Given the description of an element on the screen output the (x, y) to click on. 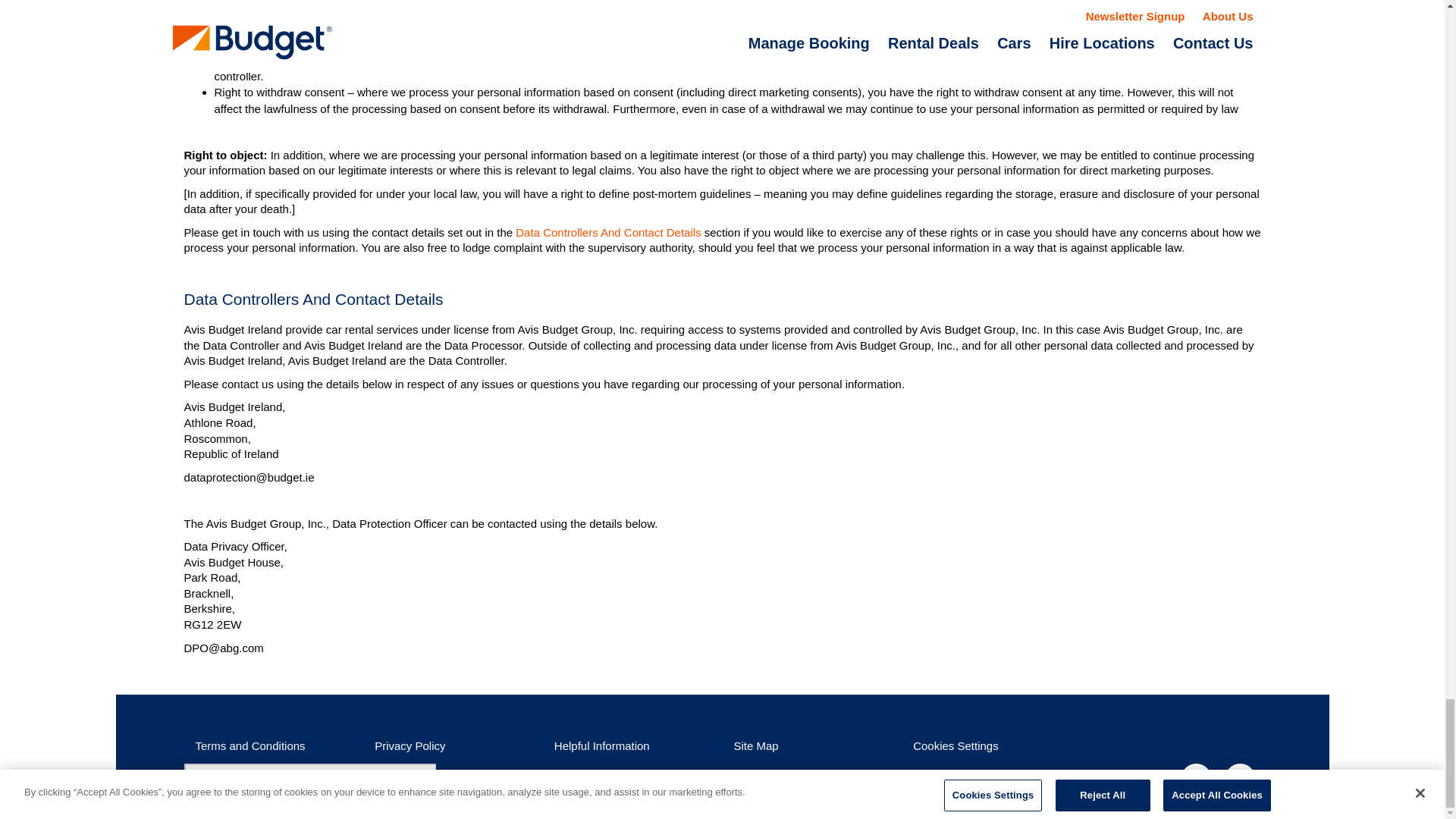
Search Budget-Ireland.co.uk (309, 782)
Budget Twitter Channel (1198, 778)
Search Budget-Ireland.co.uk (309, 777)
Search Budget-Ireland.co.uk (309, 782)
Follow Me on facebook (1242, 778)
